Given the description of an element on the screen output the (x, y) to click on. 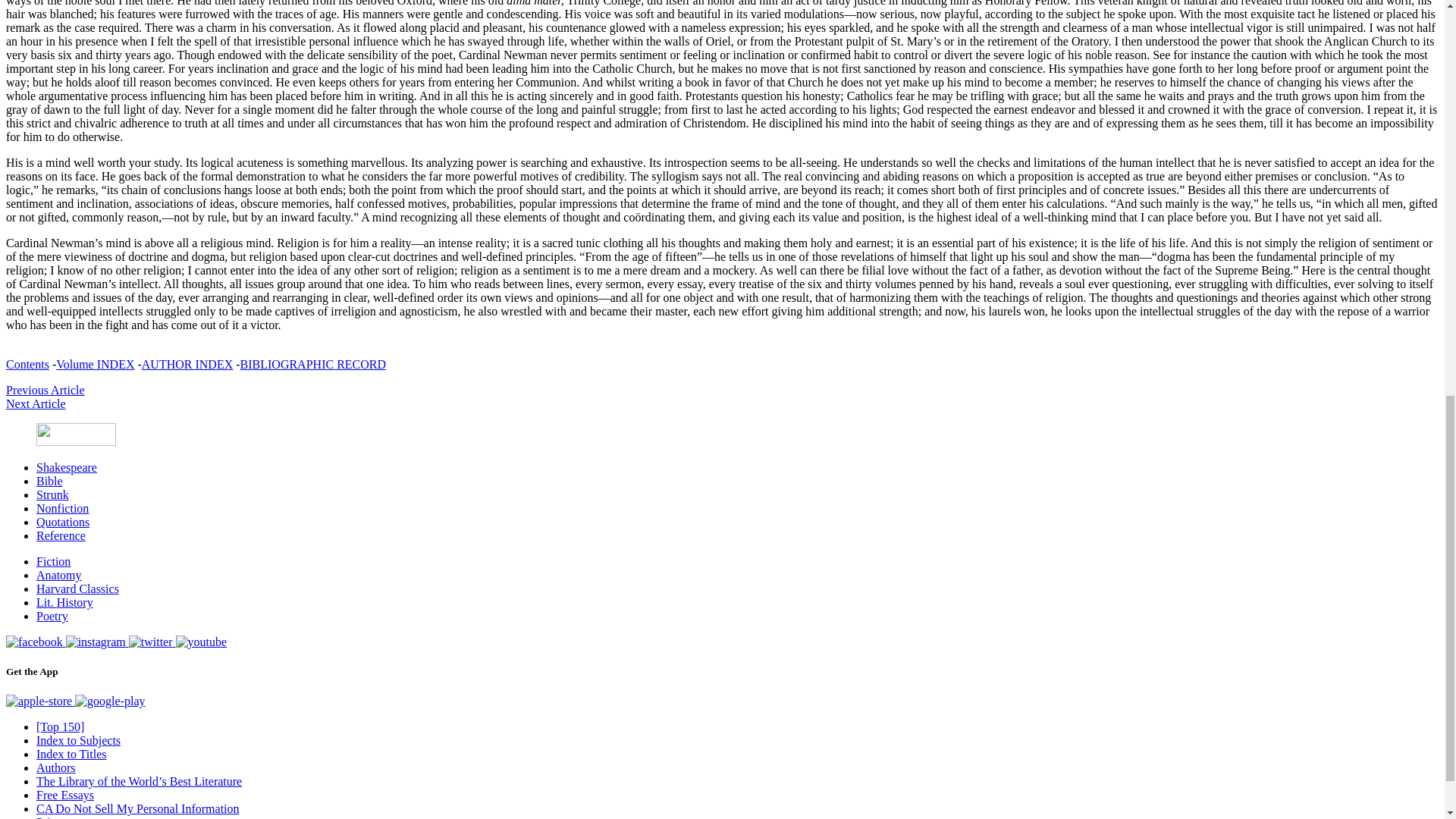
Harvard Classics (77, 588)
Strunk (52, 494)
Nonfiction (62, 508)
Shakespeare (66, 467)
Fiction (52, 561)
Bible (49, 481)
Previous Article (44, 390)
Anatomy (58, 574)
Next Article (35, 403)
Lit. History (64, 602)
Quotations (62, 521)
Volume INDEX (94, 364)
AUTHOR INDEX (186, 364)
BIBLIOGRAPHIC RECORD (312, 364)
Reference (60, 535)
